Given the description of an element on the screen output the (x, y) to click on. 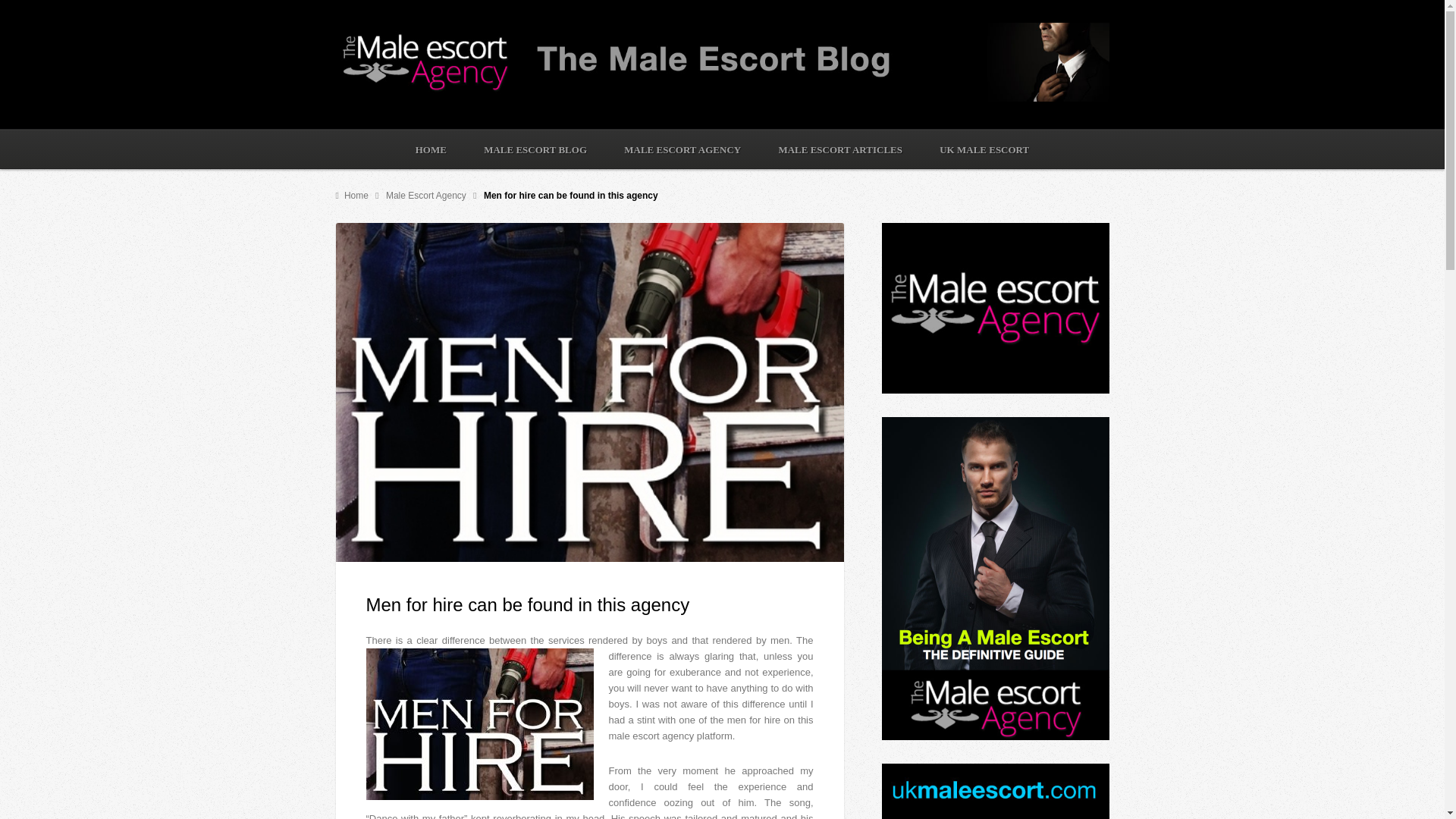
Male Escort Agency (426, 195)
MALE ESCORT AGENCY (682, 148)
MALE ESCORT ARTICLES (840, 148)
Male Escort Agency (426, 195)
The Male Escort Blog (352, 195)
HOME (430, 148)
MALE ESCORT BLOG (534, 148)
UK MALE ESCORT (983, 148)
Home (352, 195)
The Male Escort Blog (721, 98)
